Given the description of an element on the screen output the (x, y) to click on. 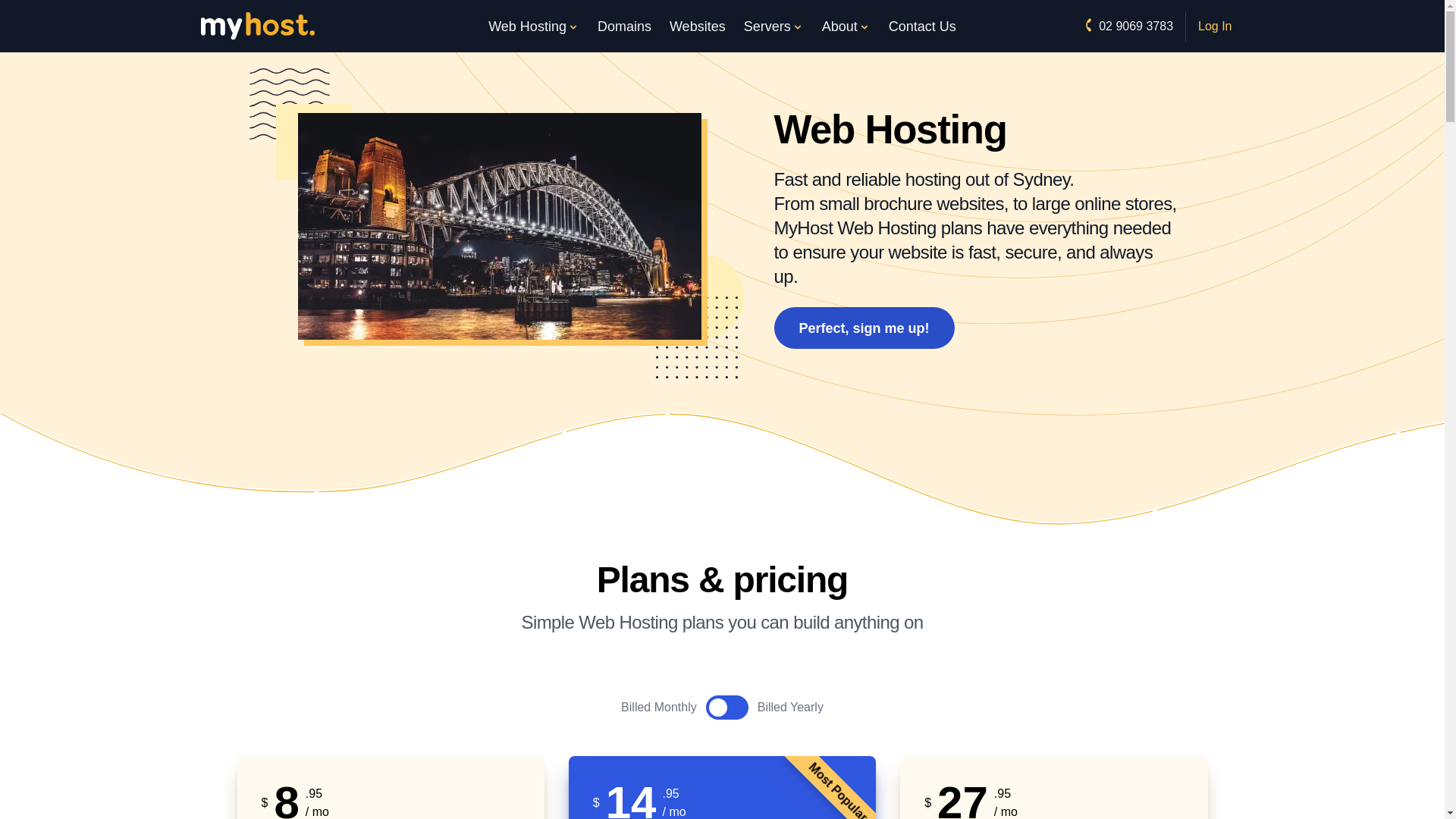
Servers (773, 25)
Web Hosting (533, 25)
02 9069 3783 (1126, 25)
Contact Us (922, 25)
Websites (697, 25)
MyHost (257, 26)
About (845, 25)
Domains (624, 25)
Perfect, sign me up! (863, 327)
